Given the description of an element on the screen output the (x, y) to click on. 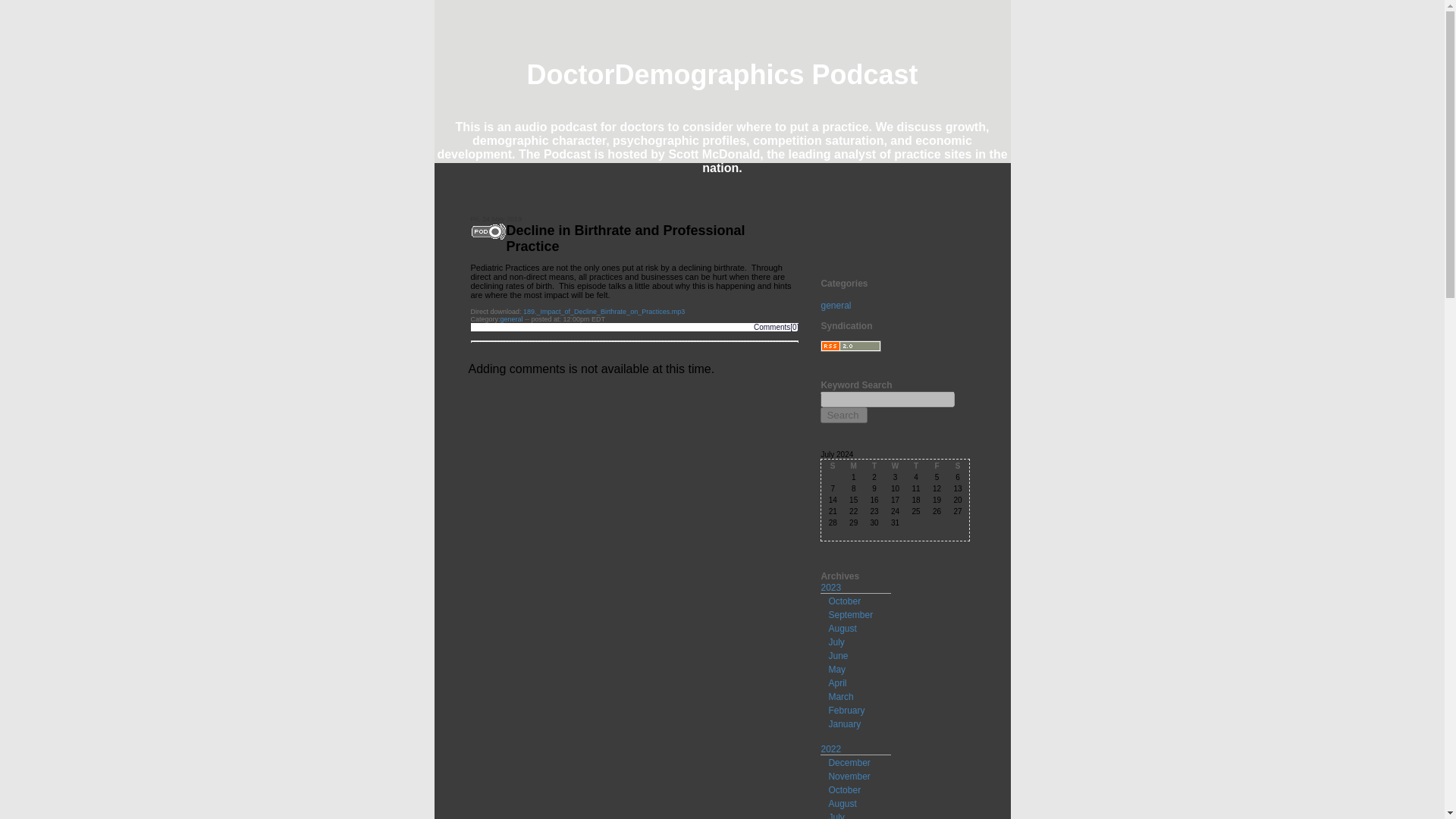
2022 (831, 748)
August (842, 628)
June (837, 655)
Search  (844, 415)
general (835, 305)
September (850, 614)
Sunday (831, 465)
December (848, 762)
October (844, 601)
Saturday (957, 465)
October (844, 789)
March (840, 696)
July (836, 642)
May (836, 669)
April (836, 683)
